Given the description of an element on the screen output the (x, y) to click on. 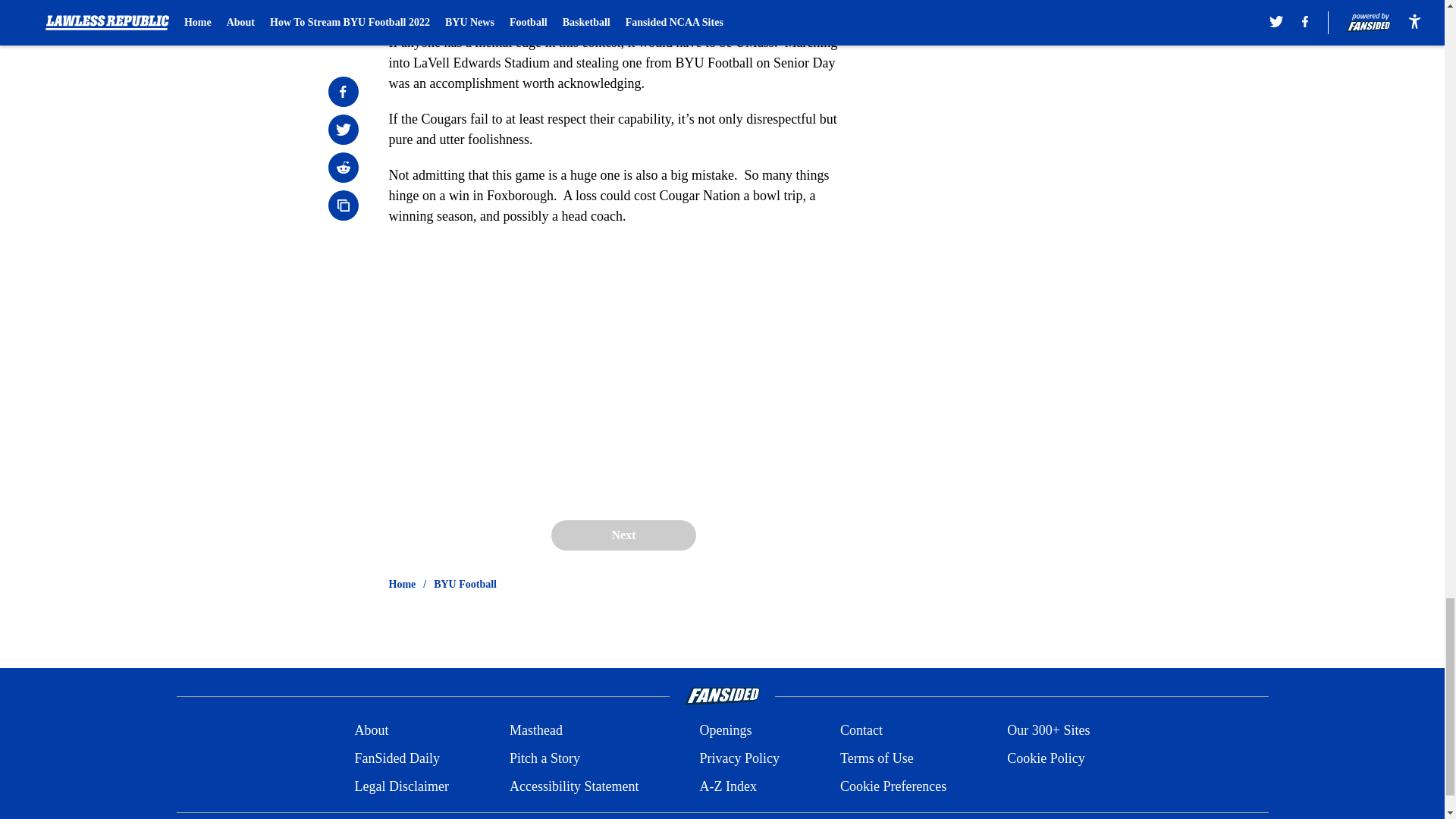
Home (401, 584)
BYU Football (464, 584)
FanSided Daily (396, 758)
Masthead (535, 730)
About (370, 730)
Contact (861, 730)
Openings (724, 730)
Next (622, 535)
